Given the description of an element on the screen output the (x, y) to click on. 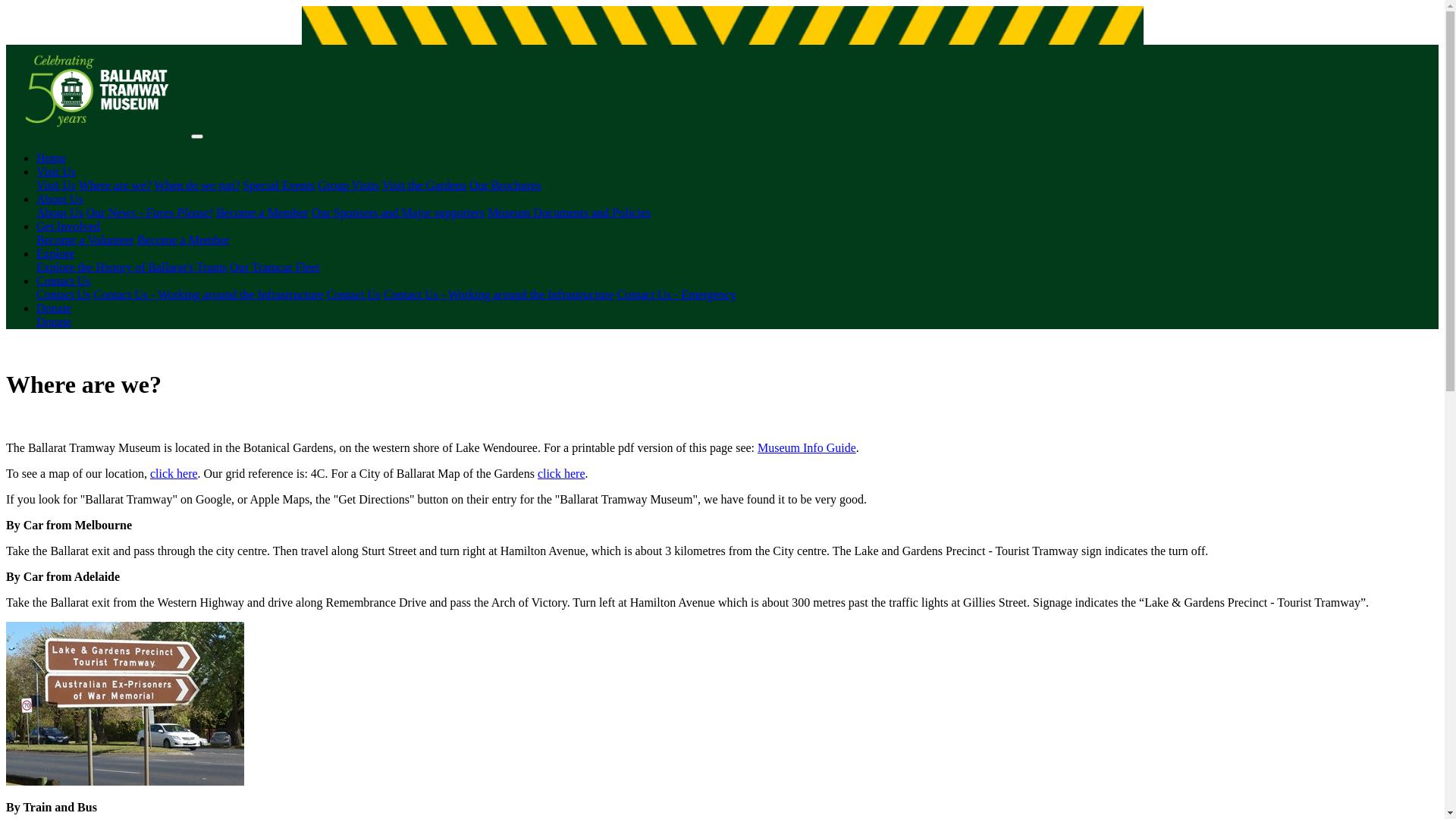
Home Element type: text (50, 157)
Special Events Element type: text (279, 184)
Museum Info Guide Element type: text (806, 447)
Our Sponsors and Major supporters Element type: text (397, 212)
Contact Us Element type: text (353, 294)
Our Brochures Element type: text (505, 184)
Museum Documents and Policies Element type: text (568, 212)
click here Element type: text (173, 473)
Contact Us - Emergency Element type: text (676, 294)
Explore the History of Ballarat's Trams Element type: text (131, 266)
Donate Element type: text (53, 321)
Contact Us Element type: text (63, 280)
Contact Us Element type: text (63, 294)
the sign to the Gardens area located on Sturt St West Element type: hover (125, 703)
Explore Element type: text (55, 253)
Become a Volunteer Element type: text (85, 239)
Group Visits Element type: text (348, 184)
Visit Us Element type: text (55, 184)
Donate Element type: text (53, 307)
Visit the Gardens Element type: text (424, 184)
Where are we? Element type: text (114, 184)
Get Involved Element type: text (68, 225)
Our News - Fares Please! Element type: text (149, 212)
Contact Us - Working around the Infrastructure Element type: text (498, 294)
Become a Member Element type: text (183, 239)
About Us Element type: text (59, 212)
click here Element type: text (561, 473)
Contact Us - Working around the Infrastructure Element type: text (208, 294)
Become a Member Element type: text (262, 212)
When do we run? Element type: text (196, 184)
About Us Element type: text (59, 198)
Our Tramcar Fleet Element type: text (274, 266)
Visit Us Element type: text (55, 171)
